Given the description of an element on the screen output the (x, y) to click on. 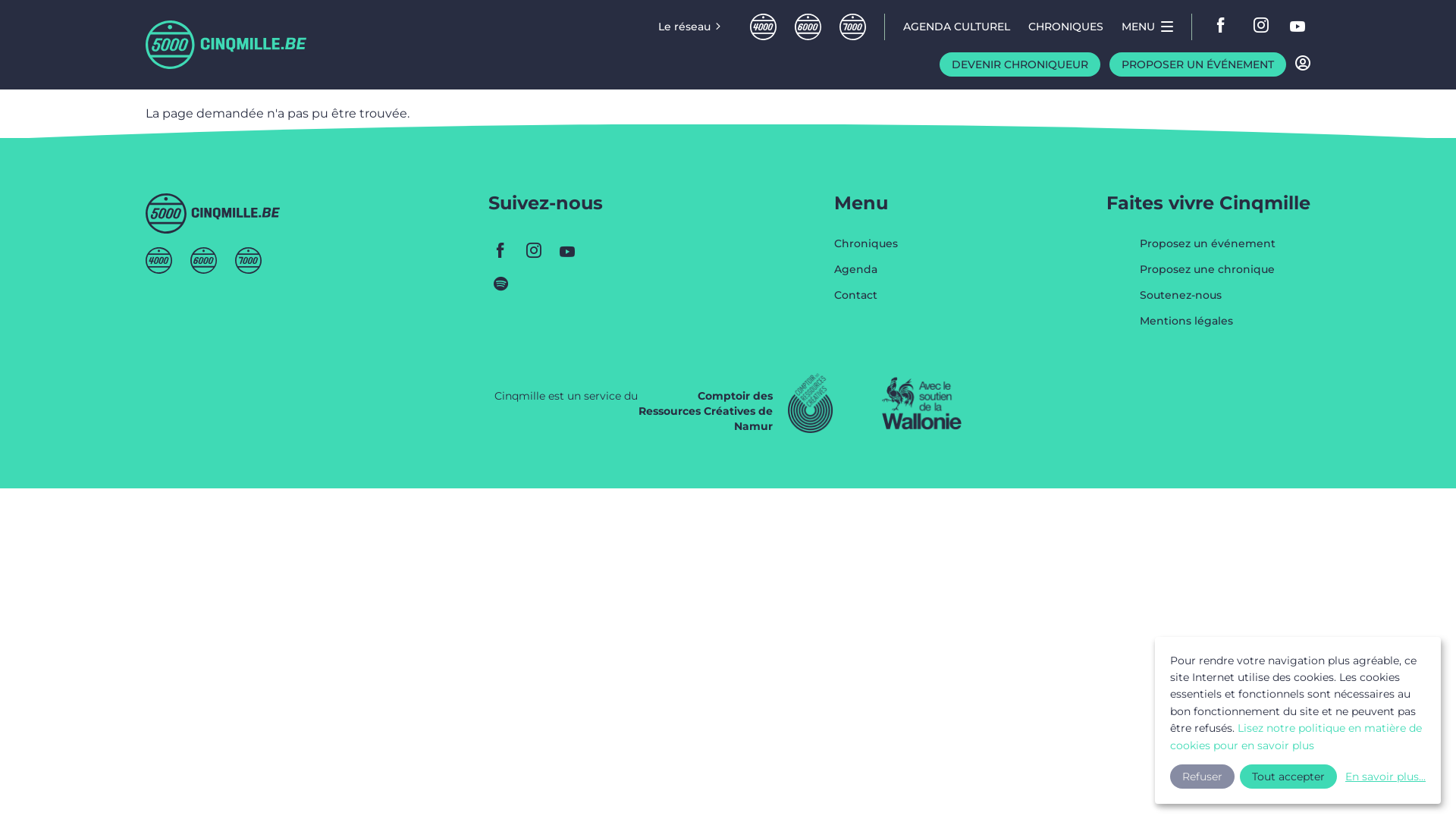
Contact Element type: text (865, 294)
instagram Element type: text (533, 250)
Tout accepter Element type: text (1287, 776)
Quatremille Element type: text (158, 260)
Sixmille Element type: text (807, 26)
facebook Element type: text (1225, 26)
Sixmille Element type: text (203, 260)
spotify Element type: text (500, 283)
Agenda Element type: text (865, 276)
CHRONIQUES Element type: text (1065, 26)
MENU Element type: text (1147, 26)
Quatremille Element type: text (762, 26)
facebook Element type: text (500, 250)
Refuser Element type: text (1202, 776)
En savoir plus... Element type: text (1383, 776)
Septmille Element type: text (248, 260)
DEVENIR CHRONIQUEUR Element type: text (1019, 63)
Soutenez-nous Element type: text (1180, 302)
youtube Element type: text (600, 250)
Chroniques Element type: text (865, 250)
Septmille Element type: text (852, 26)
Proposez une chronique Element type: text (1206, 276)
AGENDA CULTUREL Element type: text (956, 26)
youtube Element type: text (567, 250)
instagram Element type: text (1261, 26)
Aller au contenu principal Element type: text (0, 0)
youtube Element type: text (1298, 26)
Aller au contenu principal Element type: text (0, 89)
